Given the description of an element on the screen output the (x, y) to click on. 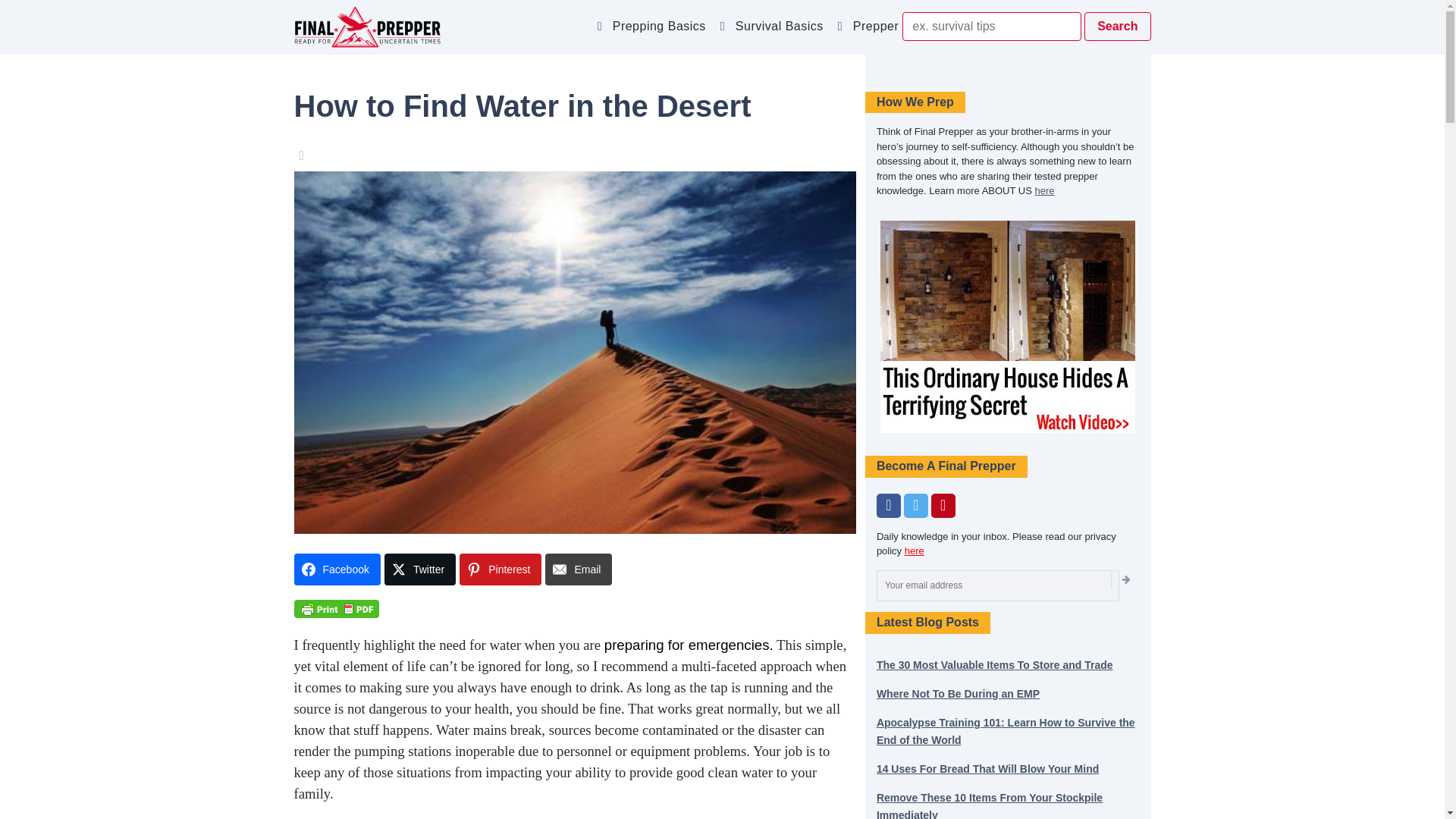
Search (1117, 26)
Share on Email (577, 569)
Prepping Basics (661, 30)
Survival Basics (782, 30)
Search (1117, 26)
Prepper Resources (911, 30)
Share on Twitter (419, 569)
Share on Facebook (337, 569)
Share on Pinterest (500, 569)
